Given the description of an element on the screen output the (x, y) to click on. 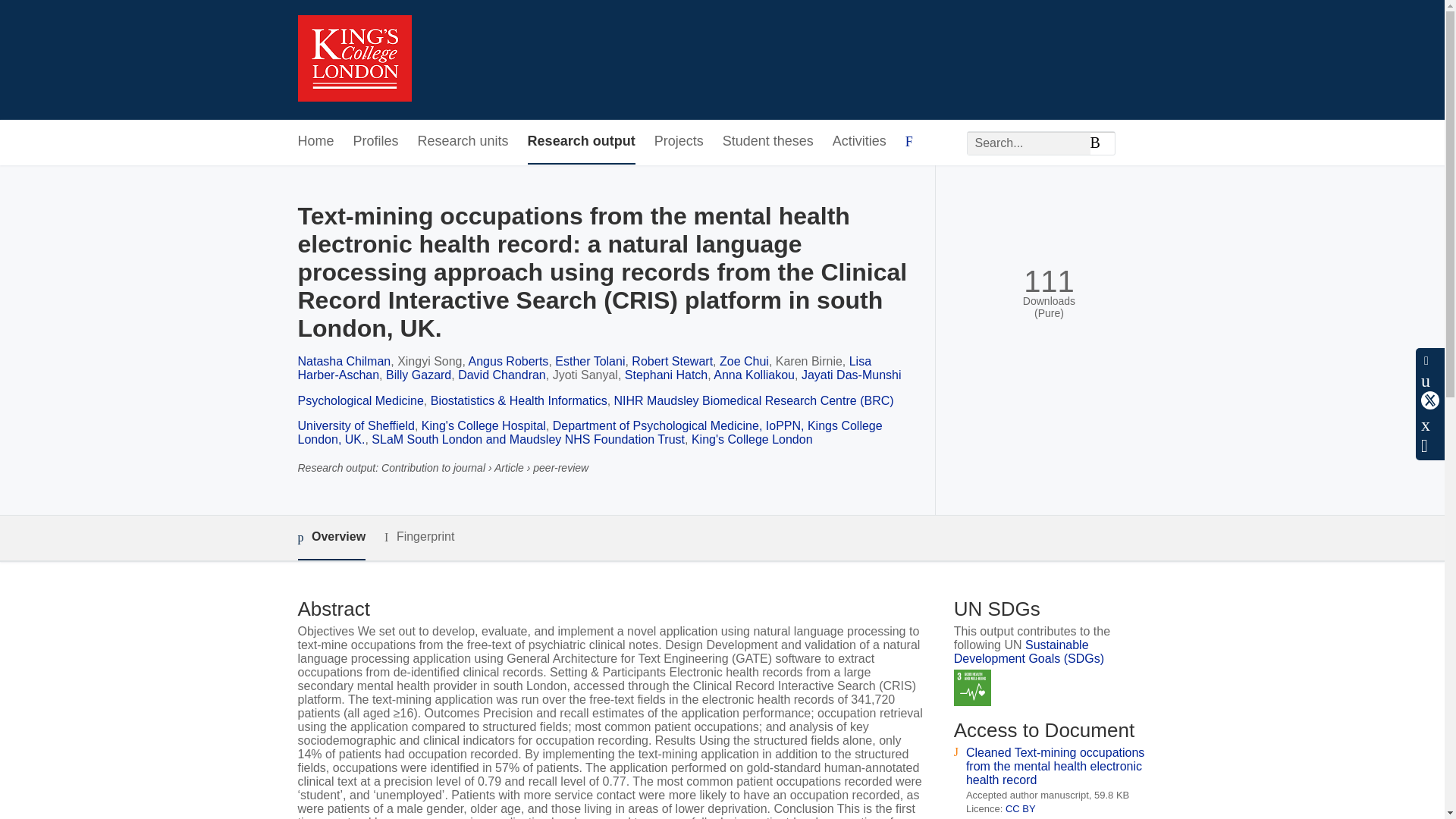
Profiles (375, 141)
Lisa Harber-Aschan (583, 367)
Natasha Chilman (343, 360)
University of Sheffield (355, 425)
King's College Hospital (484, 425)
SDG 3 - Good Health and Well-being (972, 687)
King's College London (751, 439)
Psychological Medicine (360, 400)
Angus Roberts (508, 360)
Research units (462, 141)
Projects (678, 141)
Esther Tolani (589, 360)
